Given the description of an element on the screen output the (x, y) to click on. 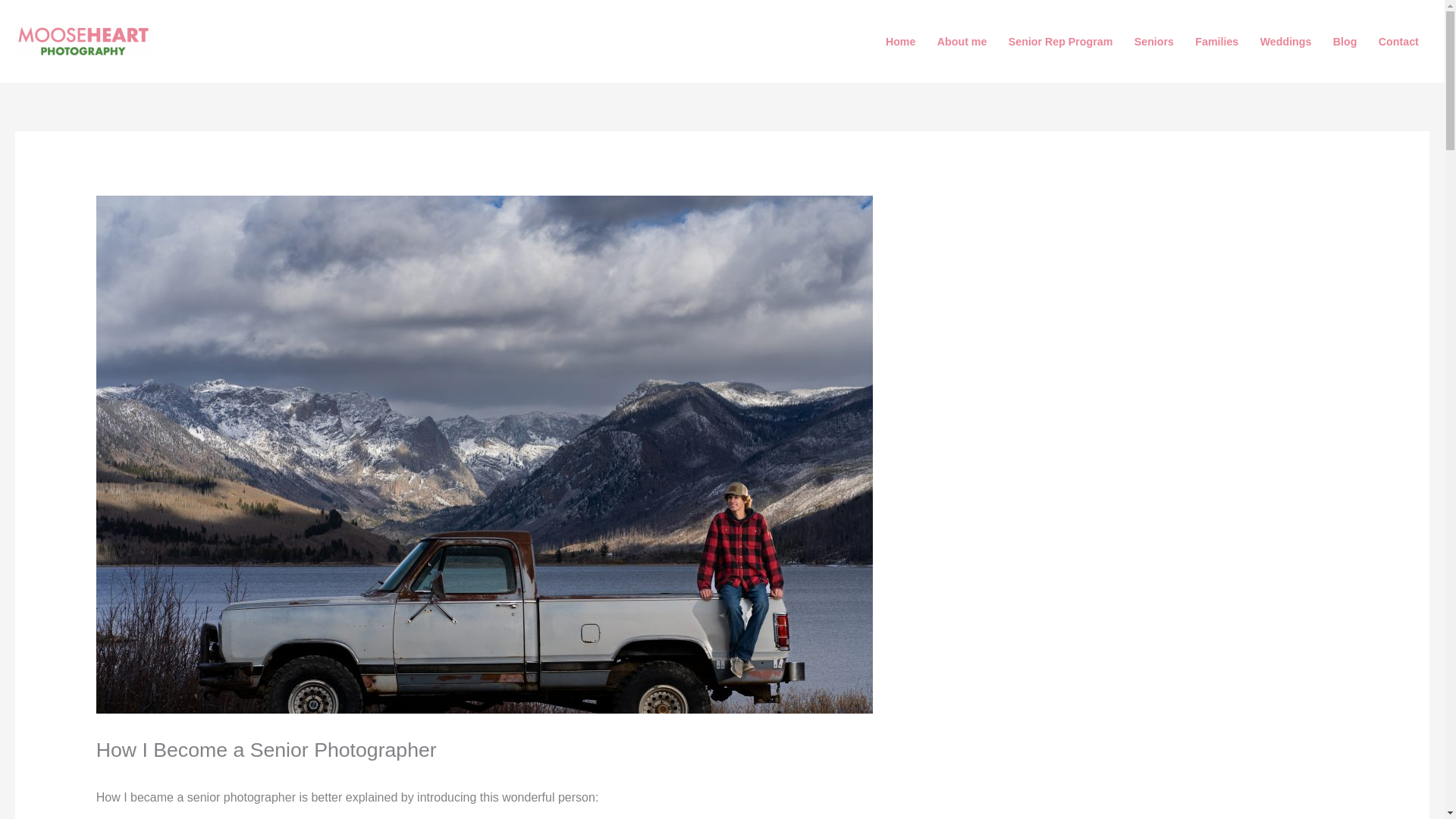
About me (961, 41)
Contact (1398, 41)
Home (900, 41)
Families (1217, 41)
Seniors (1154, 41)
Senior Rep Program (1060, 41)
Weddings (1285, 41)
